Given the description of an element on the screen output the (x, y) to click on. 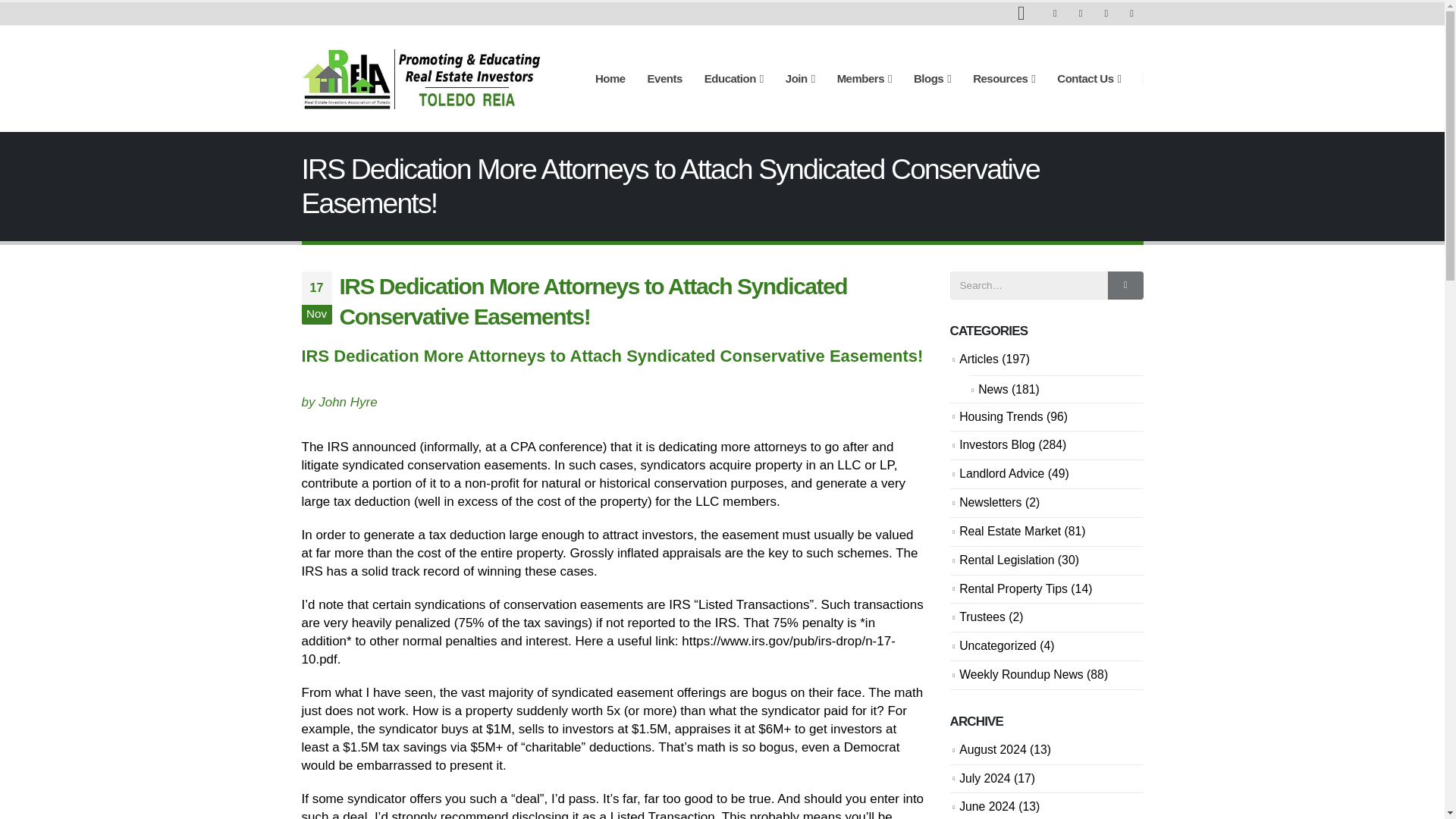
Twitter (1080, 13)
Members (864, 78)
Youtube (1106, 13)
Contact Us (1088, 78)
LinkedIn (1131, 13)
Facebook (1054, 13)
Education (734, 78)
Resources (1003, 78)
